Given the description of an element on the screen output the (x, y) to click on. 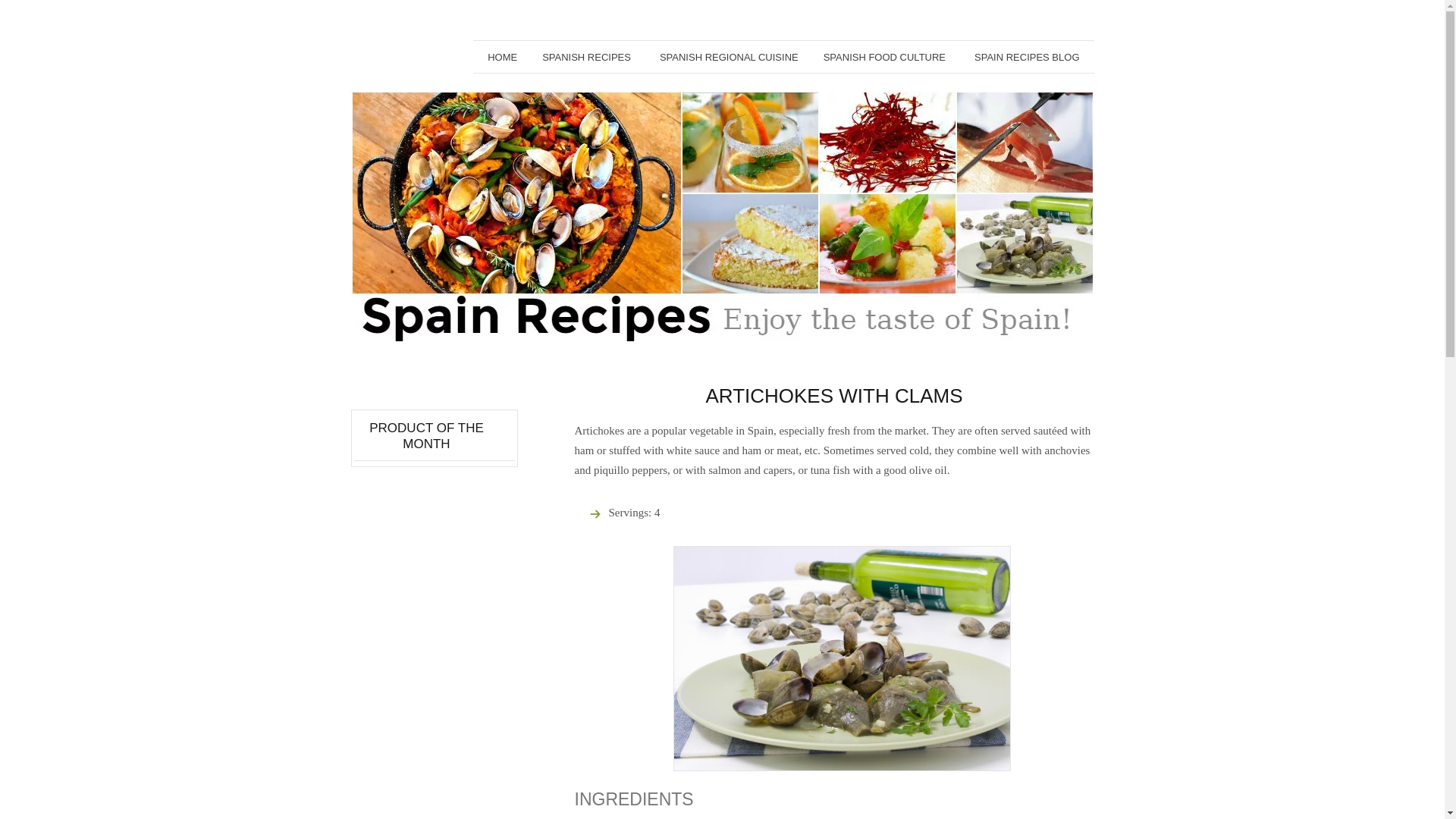
SPAIN RECIPES BLOG (1026, 56)
SPANISH REGIONAL CUISINE (728, 56)
HOME (502, 56)
